Given the description of an element on the screen output the (x, y) to click on. 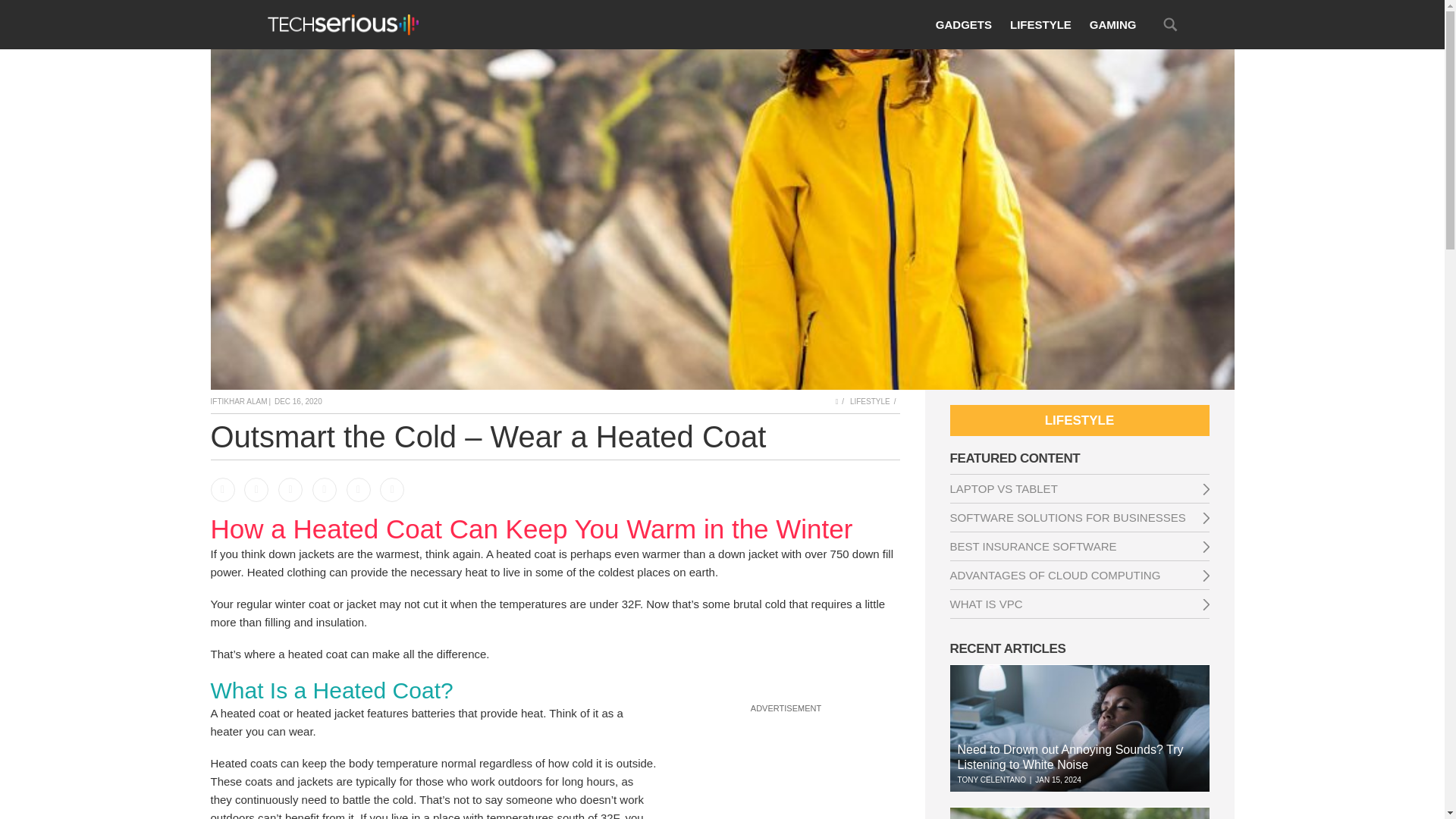
GAMING (1113, 24)
Advertisement (785, 767)
TechSerious (341, 24)
GADGETS (963, 24)
Search (1168, 24)
LIFESTYLE (1040, 24)
